Given the description of an element on the screen output the (x, y) to click on. 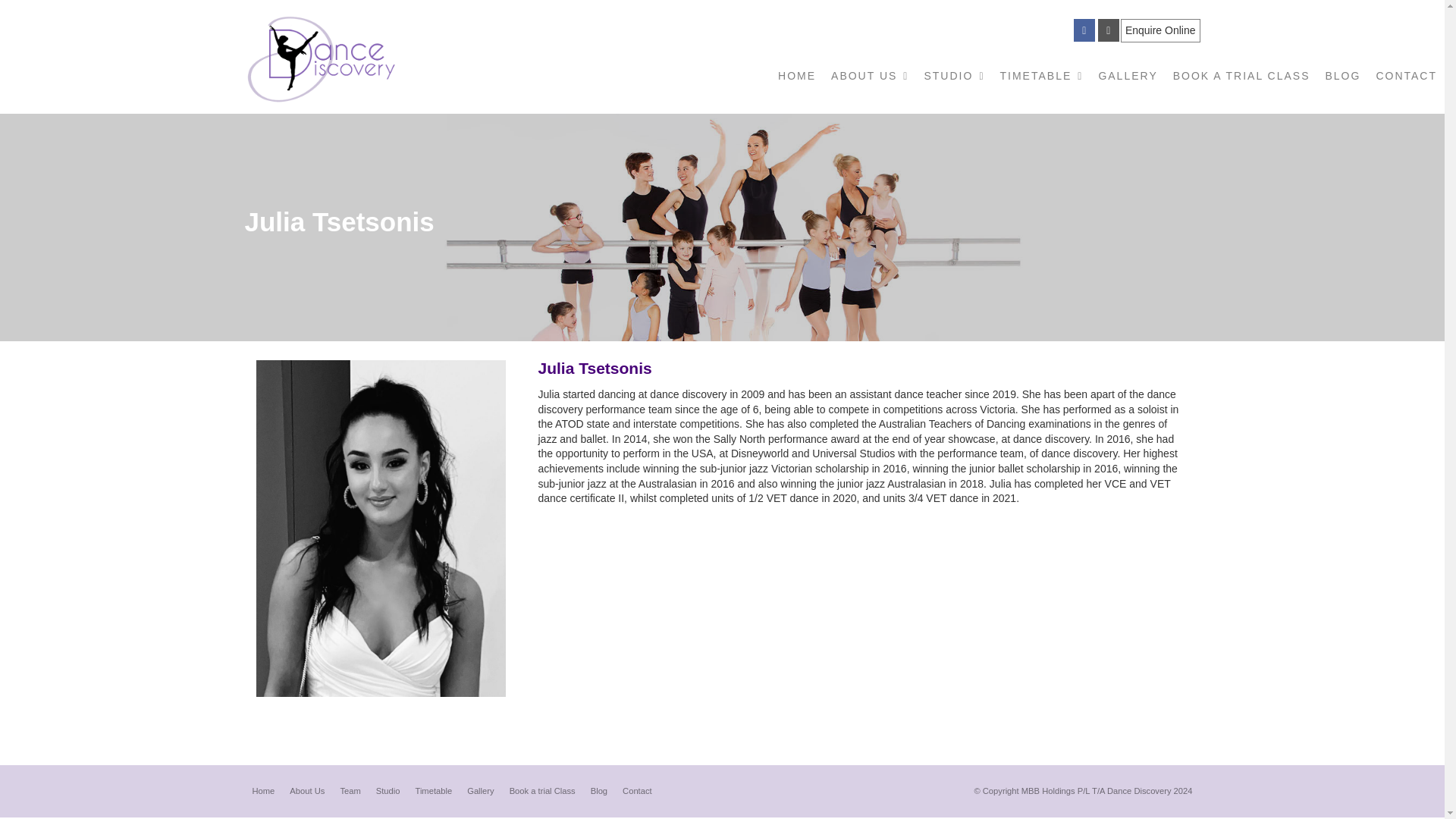
STUDIO (953, 76)
Enquire Online (1160, 30)
ABOUT US (869, 76)
HOME (797, 76)
